Given the description of an element on the screen output the (x, y) to click on. 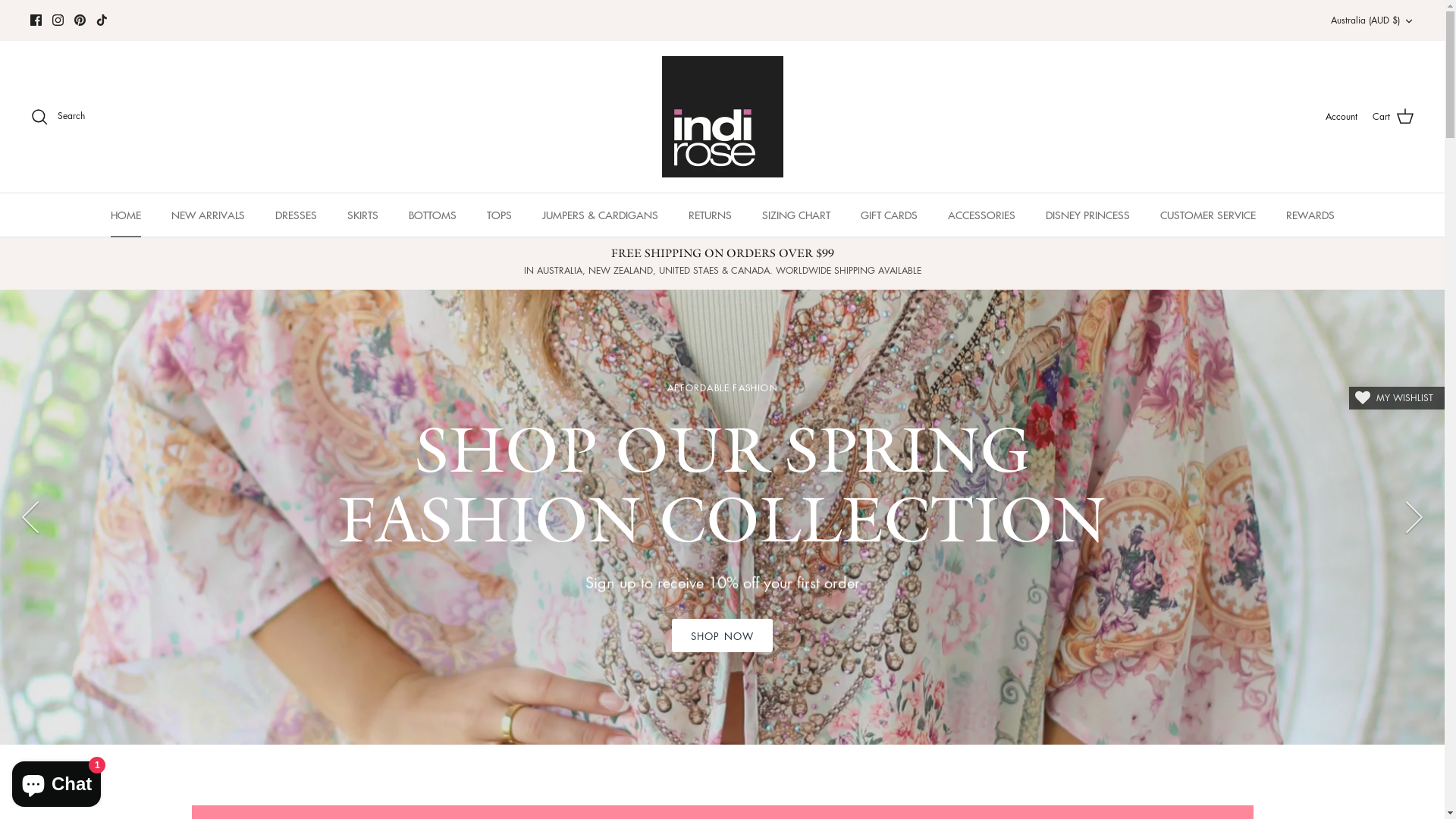
LEFT Element type: text (30, 516)
Australia (AUD $)
Down Element type: text (1372, 20)
TOPS Element type: text (499, 214)
RIGHT Element type: text (1413, 516)
HOME Element type: text (125, 214)
ACCESSORIES Element type: text (981, 214)
Shopify online store chat Element type: hover (56, 780)
GIFT CARDS Element type: text (888, 214)
NEW ARRIVALS Element type: text (207, 214)
Cart Element type: text (1393, 116)
SIZING CHART Element type: text (795, 214)
REWARDS Element type: text (1310, 214)
RETURNS Element type: text (709, 214)
Search Element type: text (57, 116)
SHOP DRESSES Element type: text (139, 635)
BOTTOMS Element type: text (431, 214)
SKIRTS Element type: text (362, 214)
CUSTOMER SERVICE Element type: text (1207, 214)
DISNEY PRINCESS Element type: text (1086, 214)
Facebook Element type: text (35, 19)
Instagram Element type: text (57, 19)
Account Element type: text (1341, 116)
Indi Rose Fashion Australia Element type: hover (721, 116)
Pinterest Element type: text (79, 19)
DRESSES Element type: text (294, 214)
JUMPERS & CARDIGANS Element type: text (599, 214)
